Given the description of an element on the screen output the (x, y) to click on. 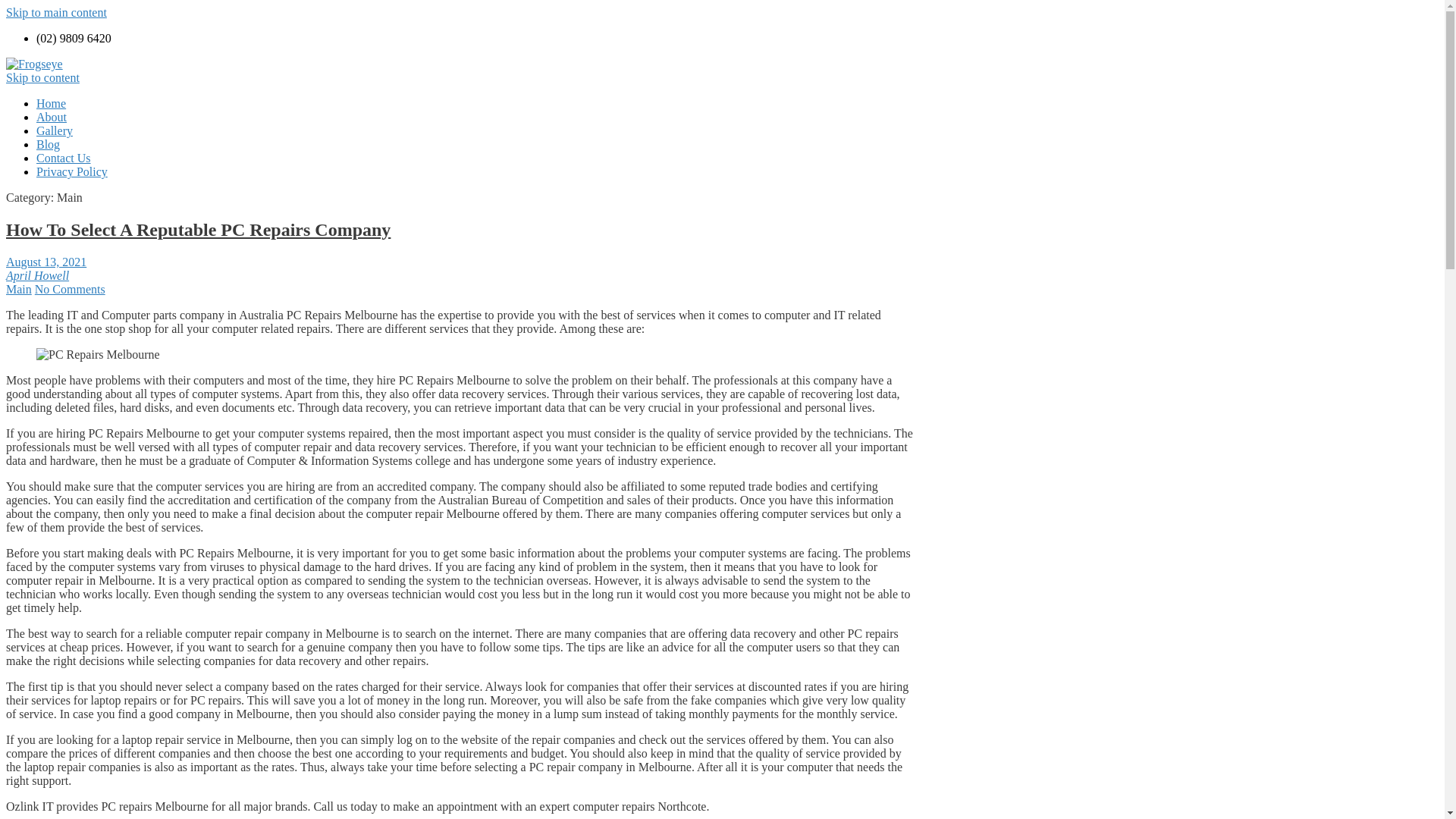
August 13, 2021 Element type: text (46, 261)
Skip to main content Element type: text (56, 12)
Privacy Policy Element type: text (71, 171)
How To Select A Reputable PC Repairs Company Element type: text (198, 229)
About Element type: text (51, 116)
Contact Us Element type: text (63, 157)
Blog Element type: text (47, 144)
Gallery Element type: text (54, 130)
Home Element type: text (50, 103)
Main Element type: text (18, 288)
April Howell Element type: text (37, 275)
Skip to content Element type: text (42, 77)
No Comments Element type: text (69, 288)
